Given the description of an element on the screen output the (x, y) to click on. 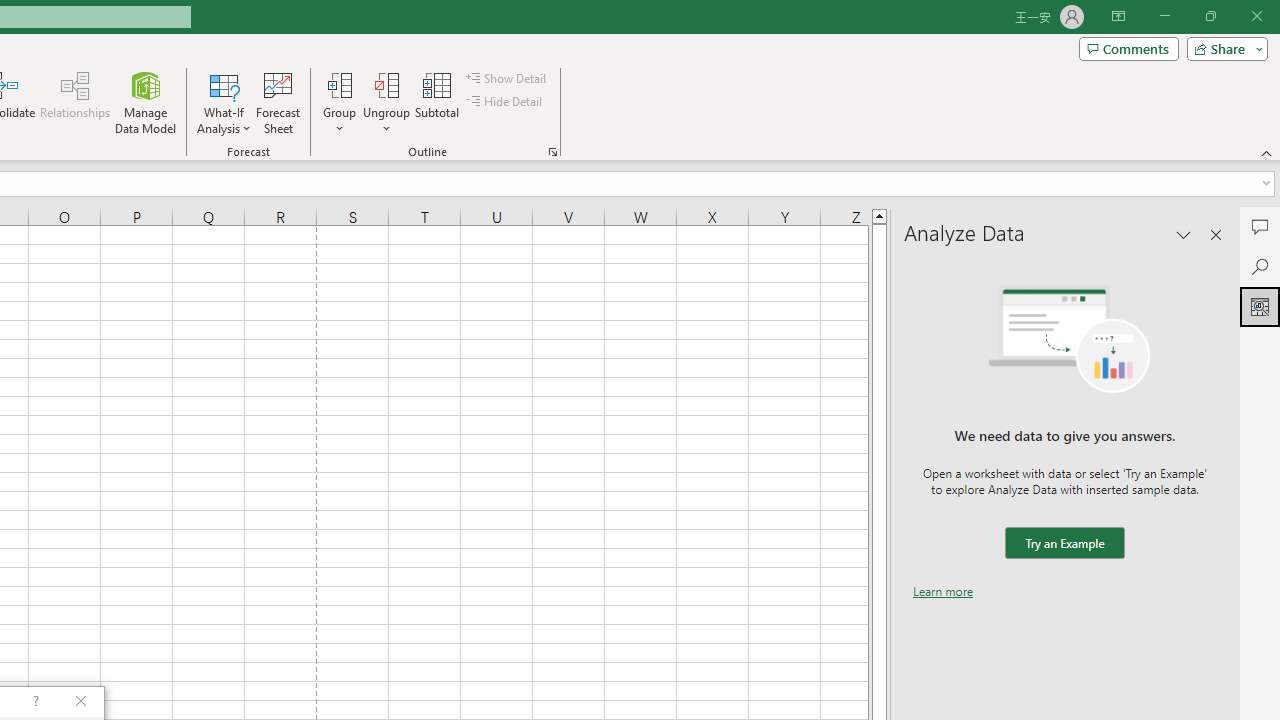
Forecast Sheet (278, 102)
Hide Detail (505, 101)
Subtotal (437, 102)
Group and Outline Settings (552, 151)
